Given the description of an element on the screen output the (x, y) to click on. 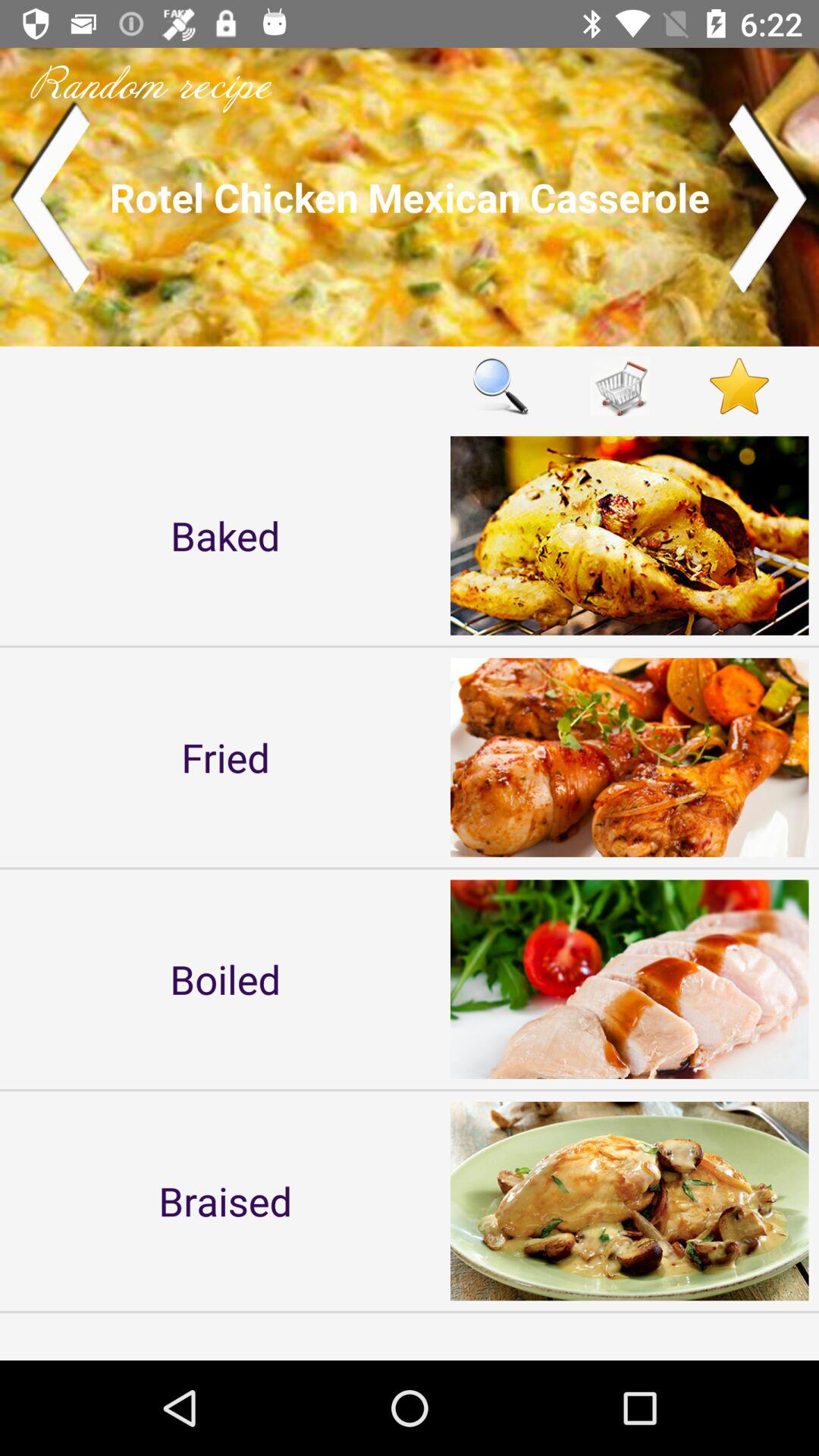
go to previous (49, 196)
